Given the description of an element on the screen output the (x, y) to click on. 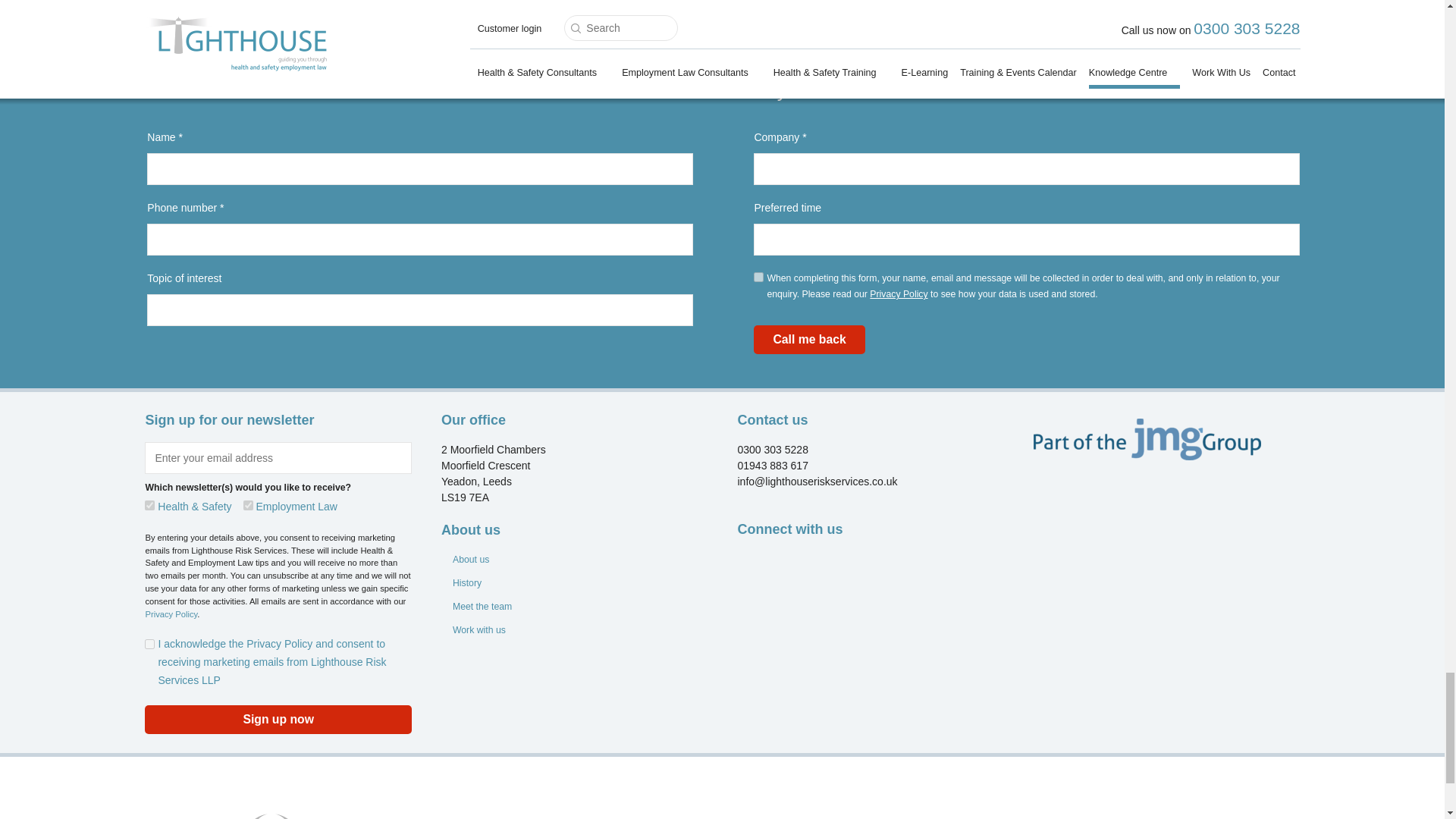
451461 (149, 505)
1 (758, 276)
on (149, 644)
451462 (248, 505)
Call me back (809, 339)
